Given the description of an element on the screen output the (x, y) to click on. 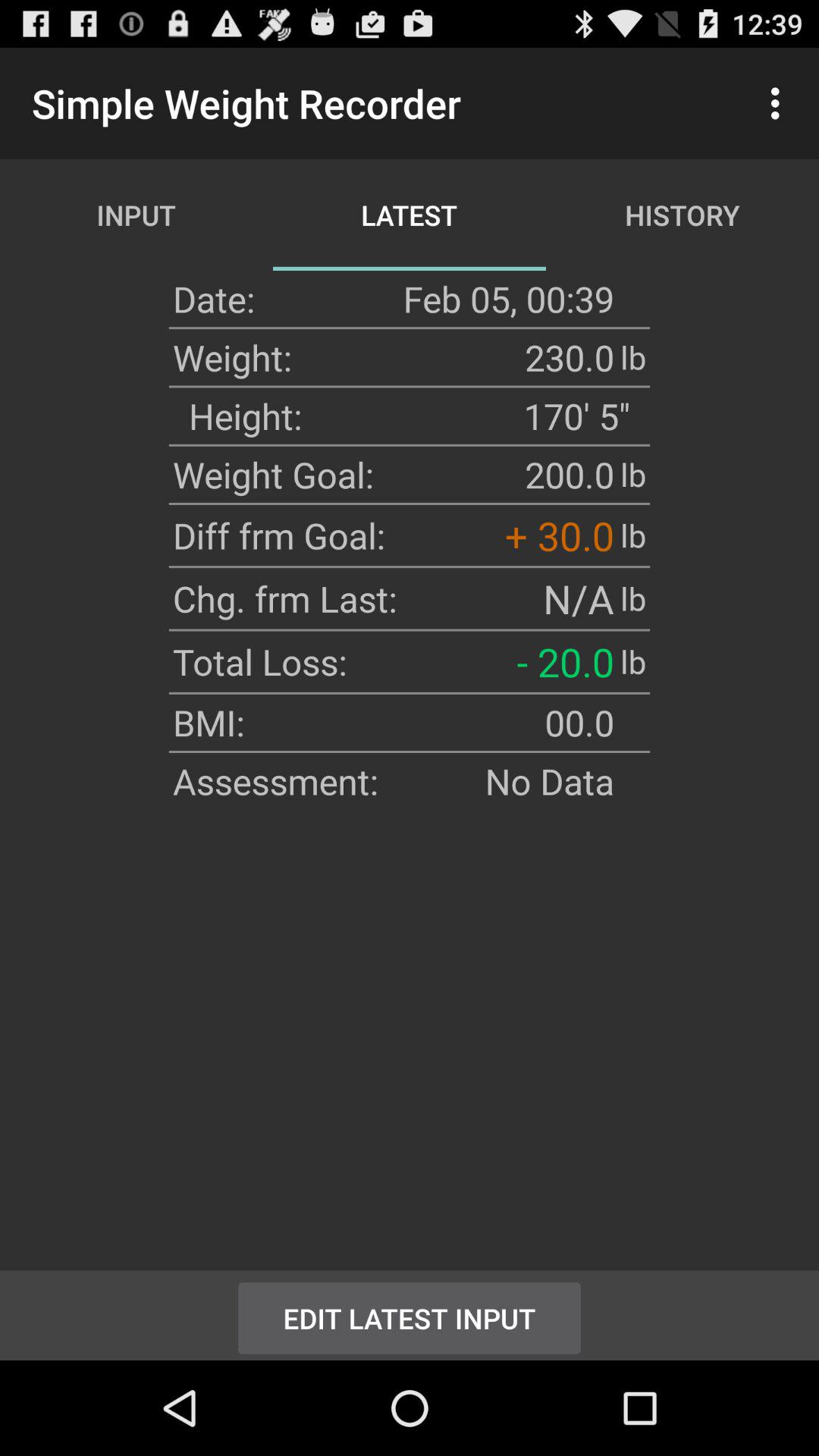
open icon next to history app (779, 103)
